Given the description of an element on the screen output the (x, y) to click on. 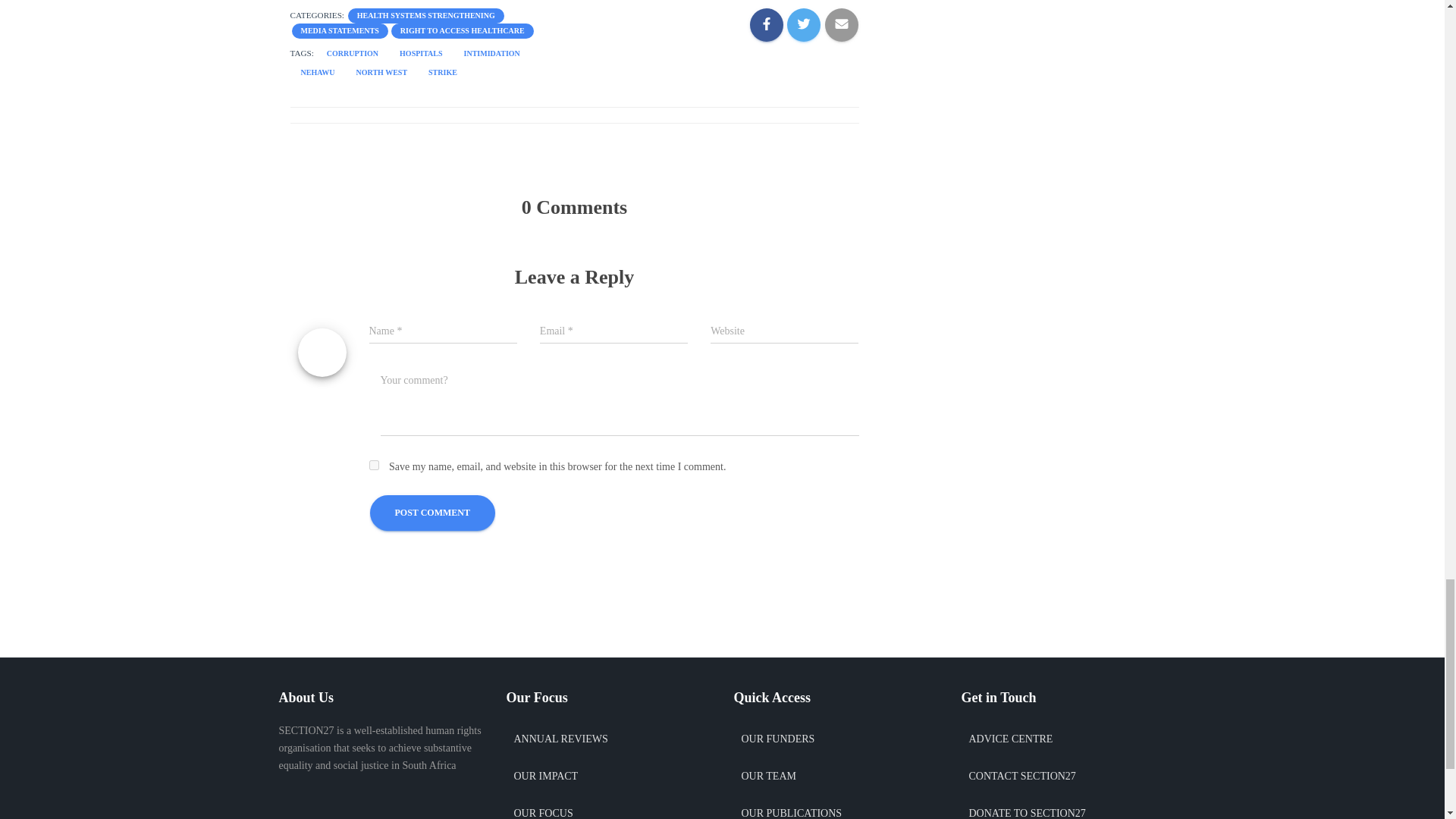
yes (373, 465)
Post Comment (432, 512)
